Given the description of an element on the screen output the (x, y) to click on. 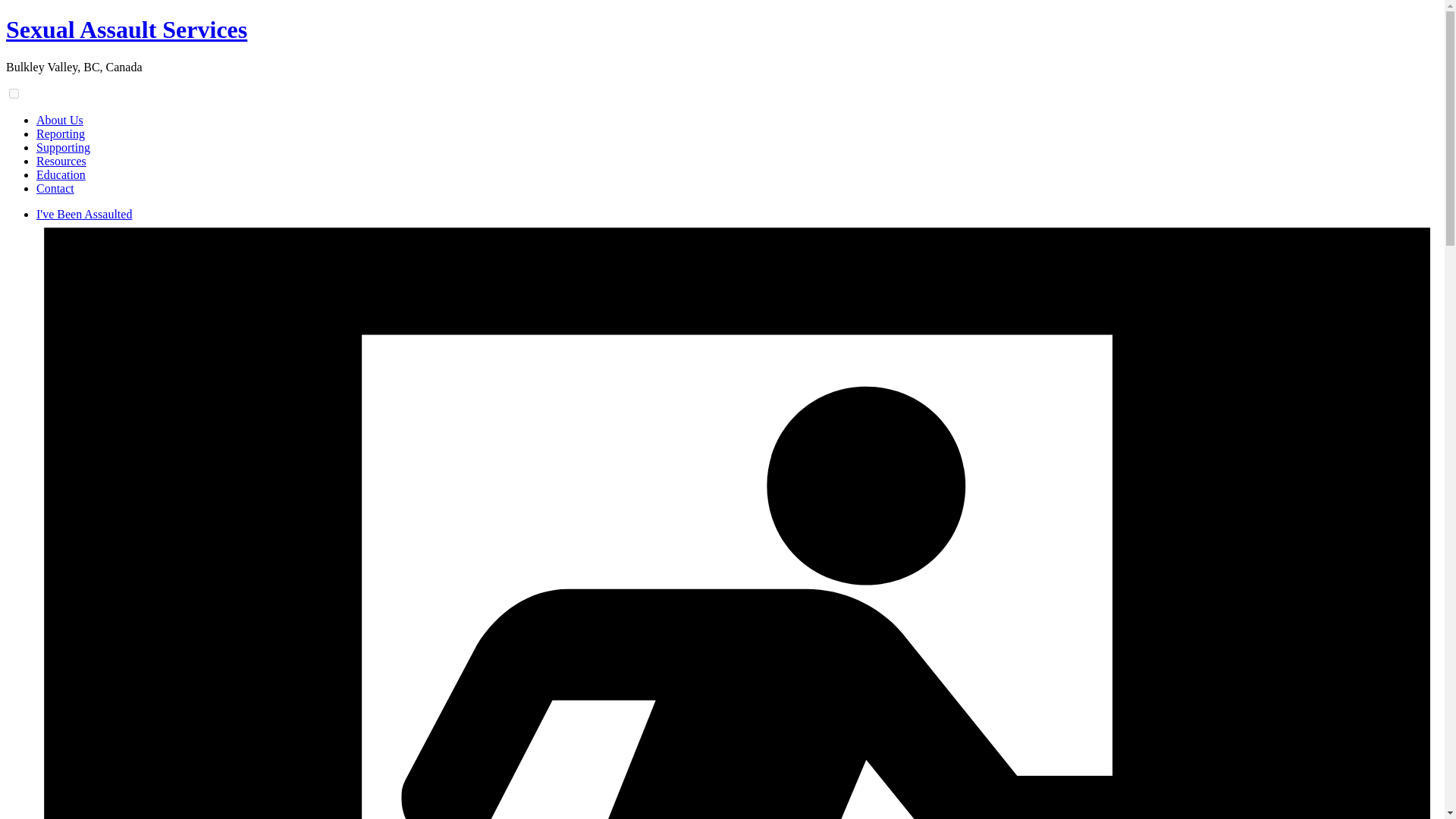
I've Been Assaulted (84, 214)
Reporting (60, 133)
Resources (60, 160)
Supporting (63, 146)
About Us (59, 119)
Sexual Assault Services (126, 29)
on (13, 93)
Contact (55, 187)
Education (60, 174)
